Given the description of an element on the screen output the (x, y) to click on. 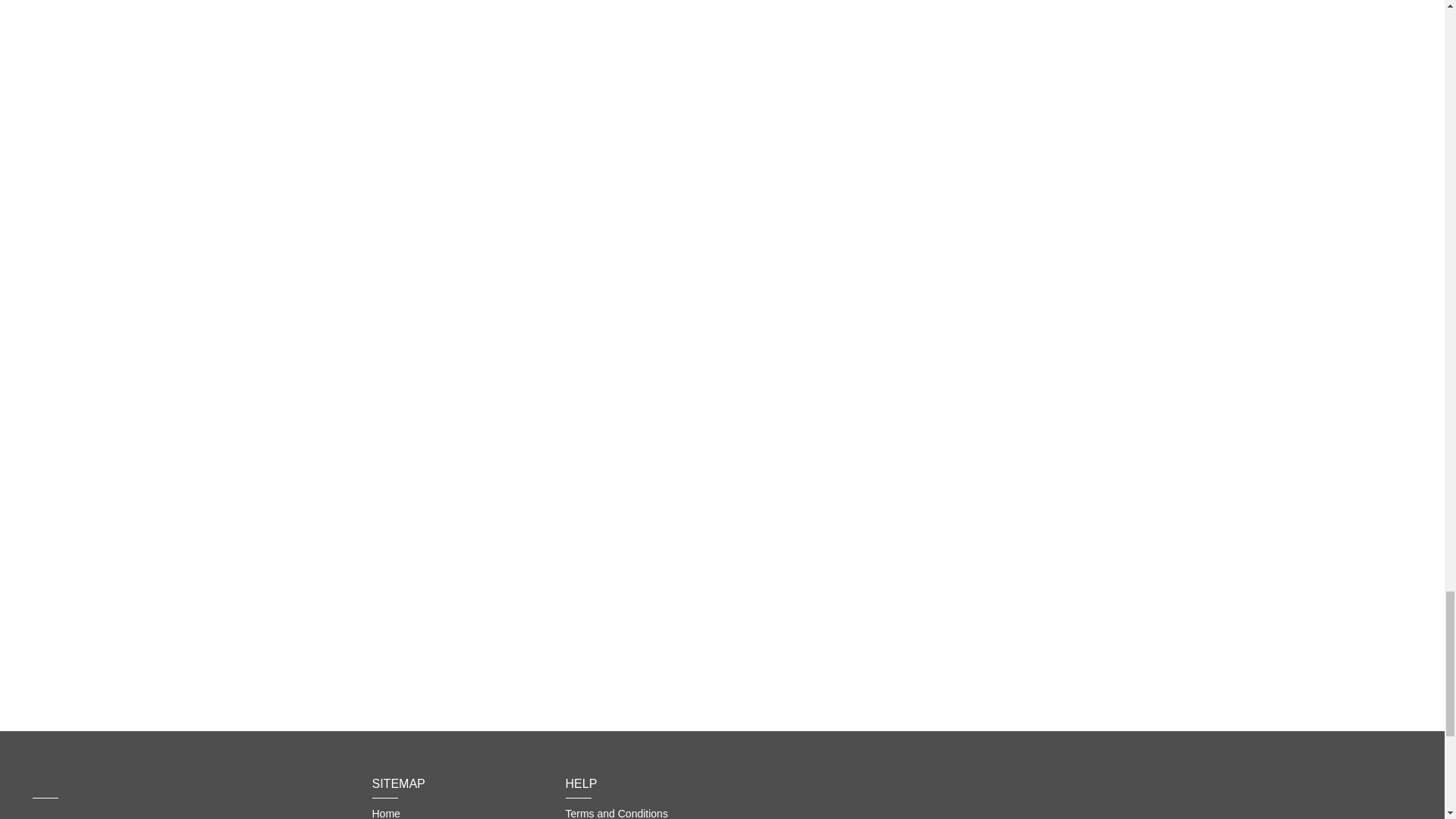
Terms and Conditions (617, 813)
Home (384, 813)
